Given the description of an element on the screen output the (x, y) to click on. 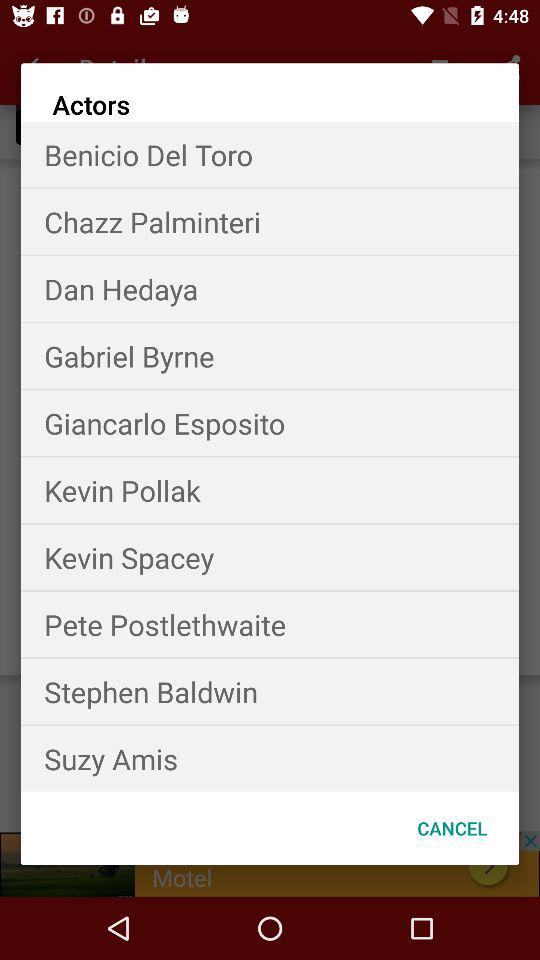
press icon below    pete postlethwaite item (269, 691)
